Given the description of an element on the screen output the (x, y) to click on. 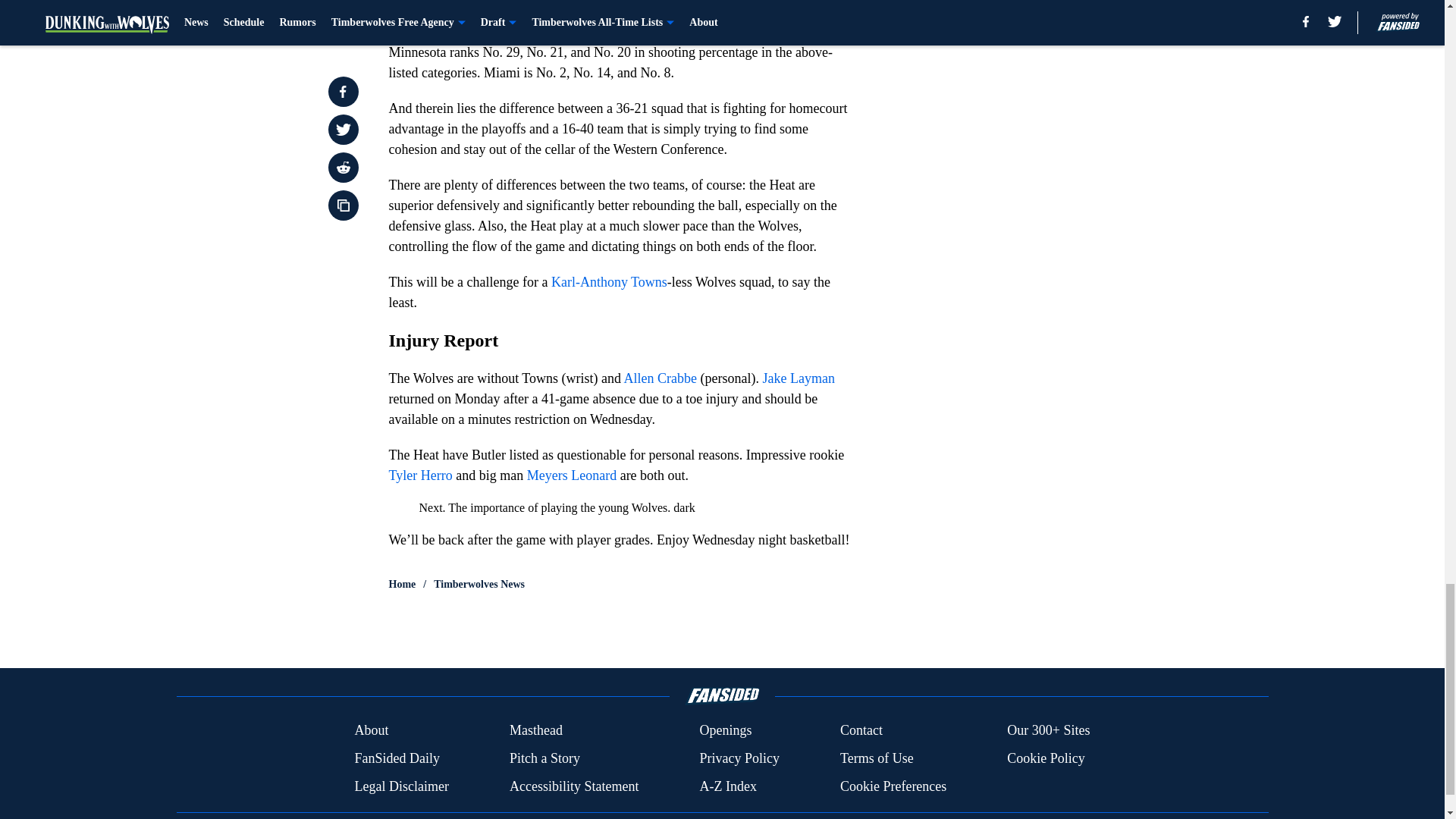
Karl-Anthony Towns (608, 281)
Meyers Leonard (571, 475)
Home (401, 584)
Timberwolves News (478, 584)
Jake Layman (798, 378)
Tyler Herro (419, 475)
Allen Crabbe (660, 378)
